Given the description of an element on the screen output the (x, y) to click on. 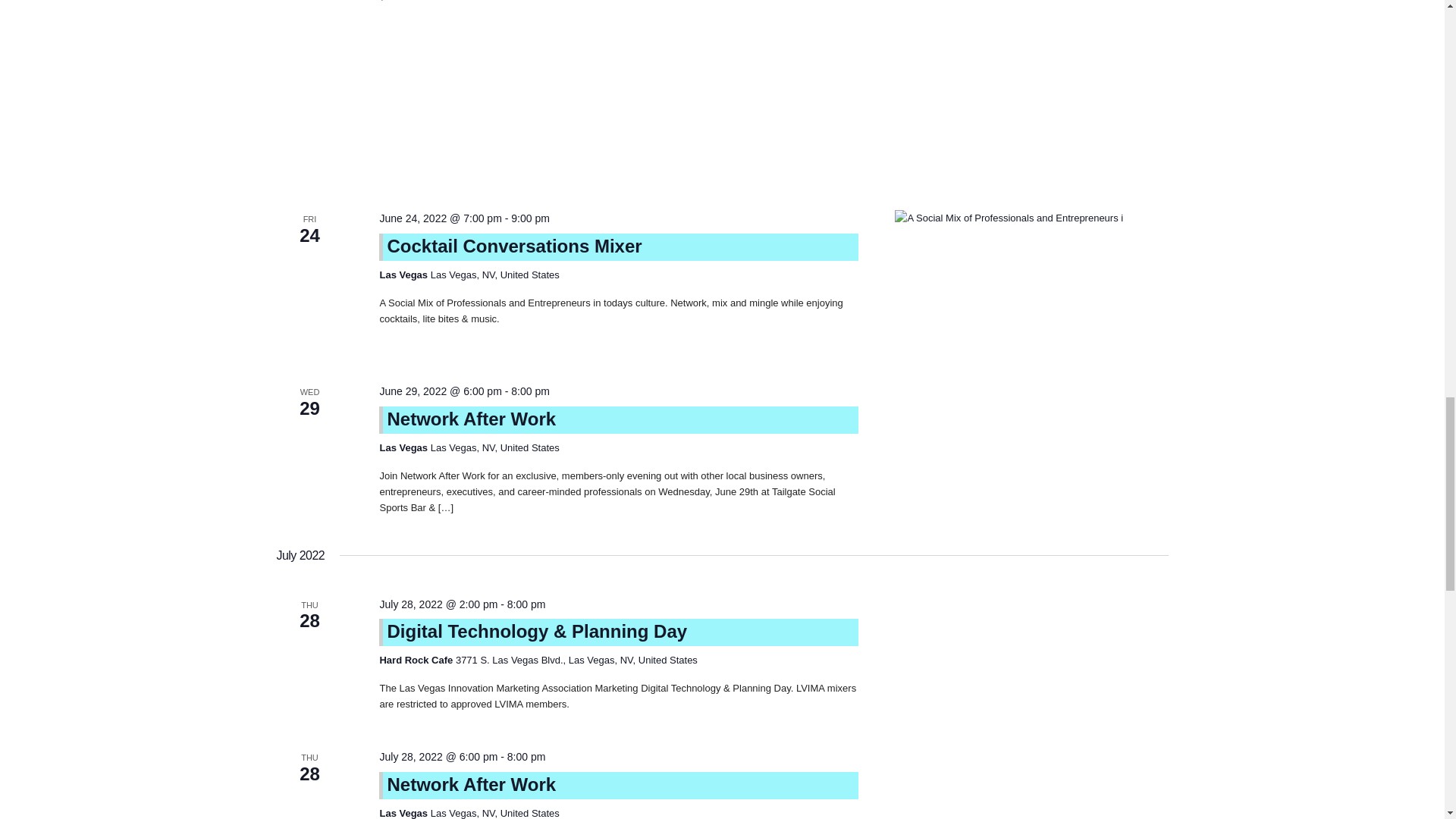
Cocktail Conversations Mixer (514, 246)
Cocktail Conversations Mixer (1031, 277)
Network After Work (471, 418)
Network After Work (471, 784)
